Given the description of an element on the screen output the (x, y) to click on. 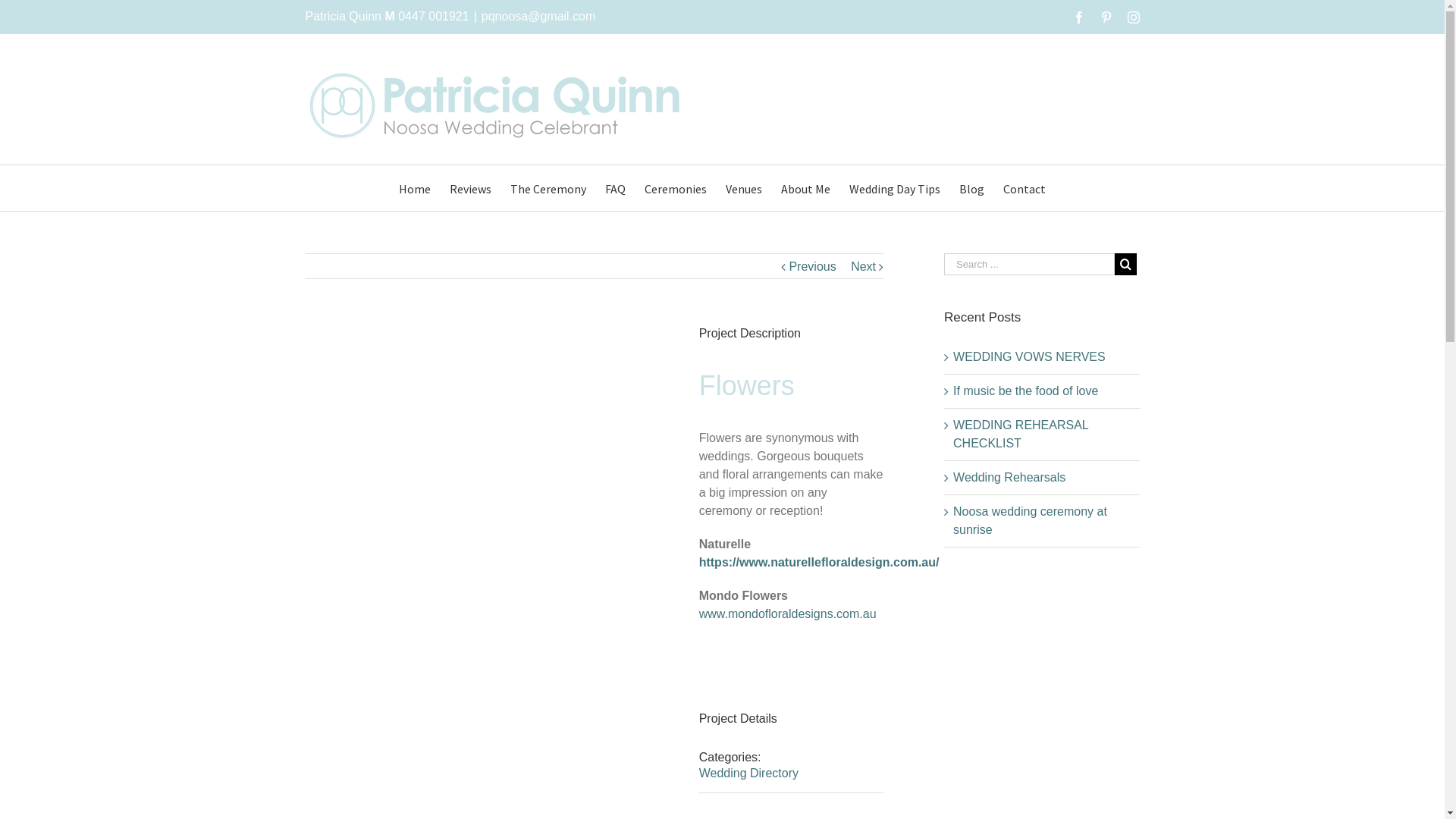
About Me Element type: text (805, 187)
Contact Element type: text (1024, 187)
Wedding Directory Element type: text (748, 772)
www.mondofloraldesigns.com.au Element type: text (787, 613)
Previous Element type: text (811, 266)
WEDDING REHEARSAL CHECKLIST Element type: text (1020, 433)
Venues Element type: text (743, 187)
Wedding Rehearsals Element type: text (1009, 476)
Instagram Element type: text (1132, 17)
pqnoosa@gmail.com Element type: text (538, 15)
The Ceremony Element type: text (548, 187)
Ceremonies Element type: text (675, 187)
Reviews Element type: text (470, 187)
Noosa wedding ceremony at sunrise Element type: text (1030, 520)
WEDDING VOWS NERVES Element type: text (1029, 356)
Next Element type: text (862, 266)
If music be the food of love Element type: text (1025, 390)
Facebook Element type: text (1078, 17)
Pinterest Element type: text (1105, 17)
Blog Element type: text (971, 187)
Home Element type: text (414, 187)
FAQ Element type: text (615, 187)
https://www.naturellefloraldesign.com.au/ Element type: text (819, 561)
Wedding Day Tips Element type: text (894, 187)
